Given the description of an element on the screen output the (x, y) to click on. 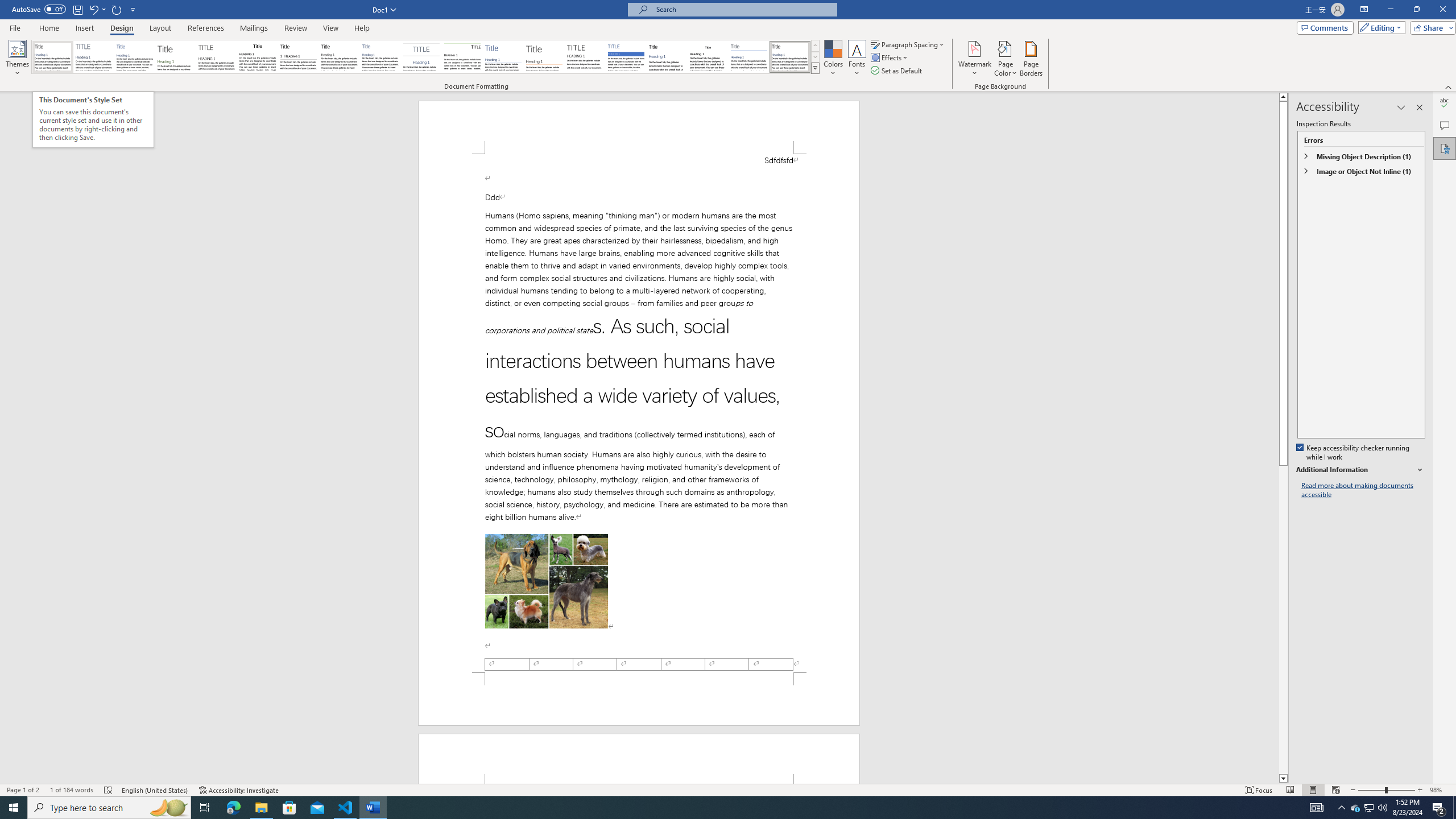
Header -Section 1- (638, 758)
Themes (17, 58)
Page Number Page 1 of 2 (22, 790)
Black & White (Classic) (257, 56)
AutomationID: QuickStylesSets (425, 56)
Footer -Section 1- (638, 698)
Basic (Stylish) (175, 56)
Spelling and Grammar Check Errors (108, 790)
